Given the description of an element on the screen output the (x, y) to click on. 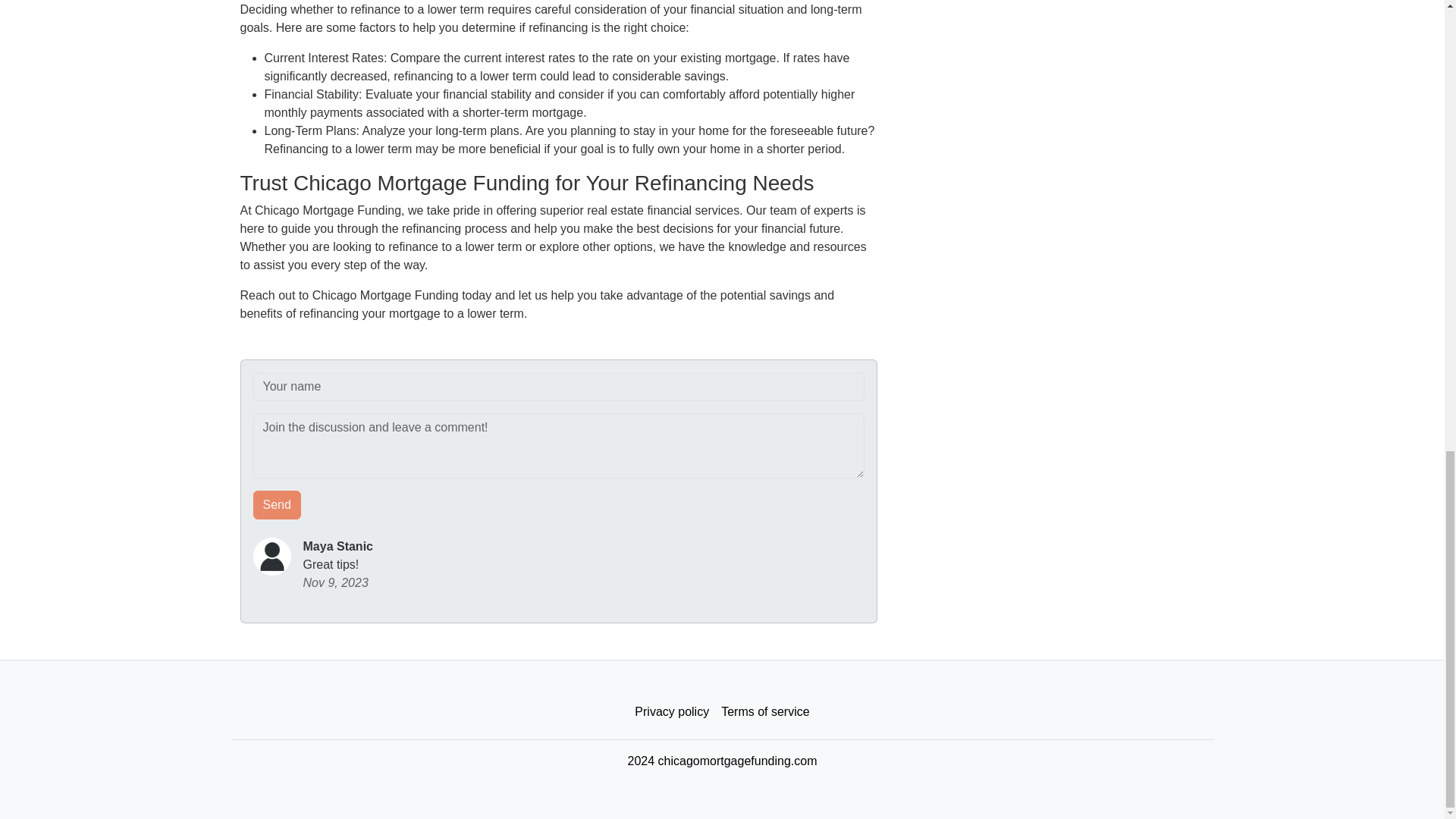
Send (277, 504)
Send (277, 504)
